Given the description of an element on the screen output the (x, y) to click on. 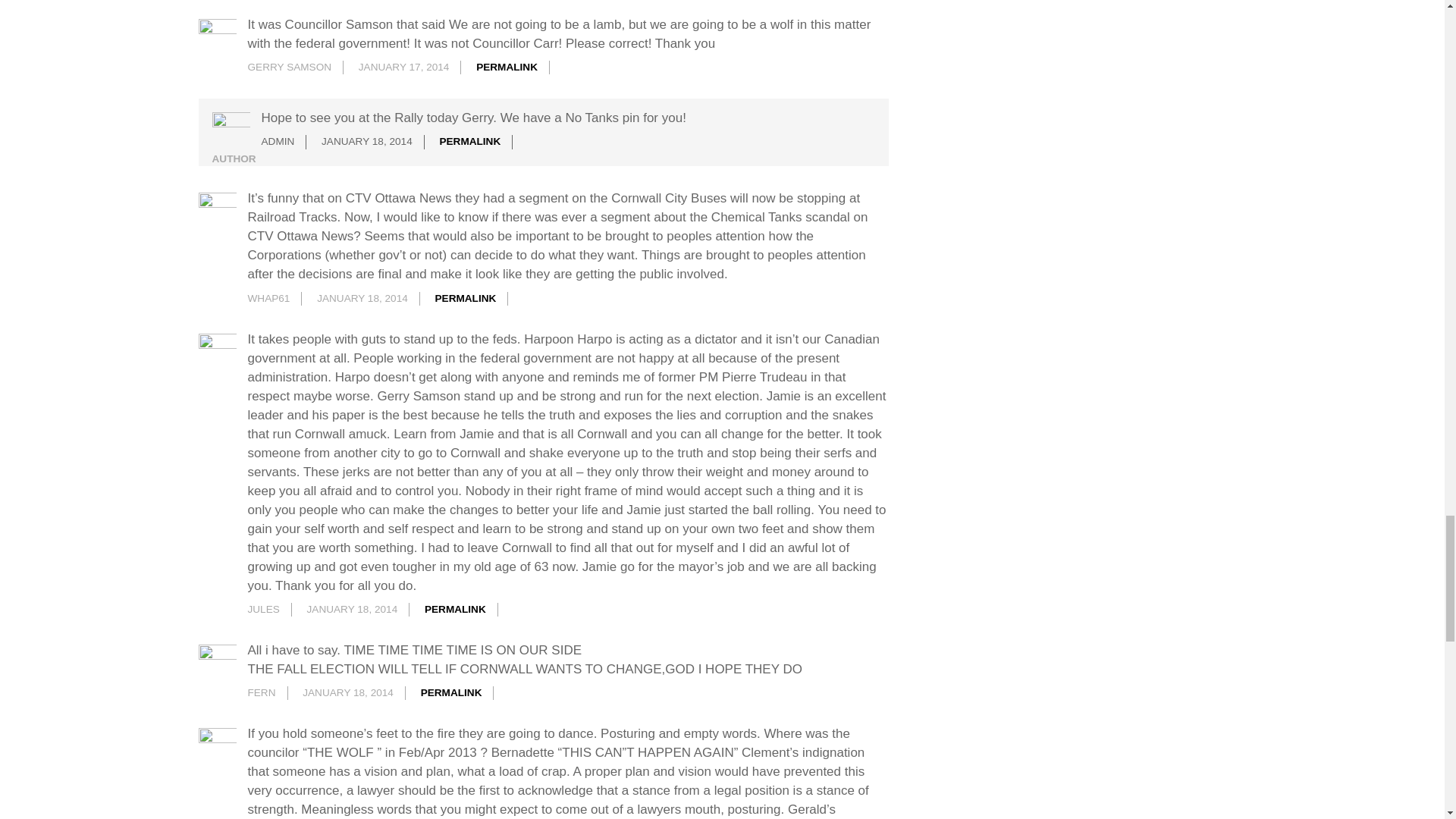
Saturday, January 18, 2014, 2:45 am (366, 141)
Saturday, January 18, 2014, 11:51 am (352, 609)
Friday, January 17, 2014, 11:20 pm (403, 66)
Saturday, January 18, 2014, 4:07 pm (347, 692)
Saturday, January 18, 2014, 8:45 am (362, 297)
